Given the description of an element on the screen output the (x, y) to click on. 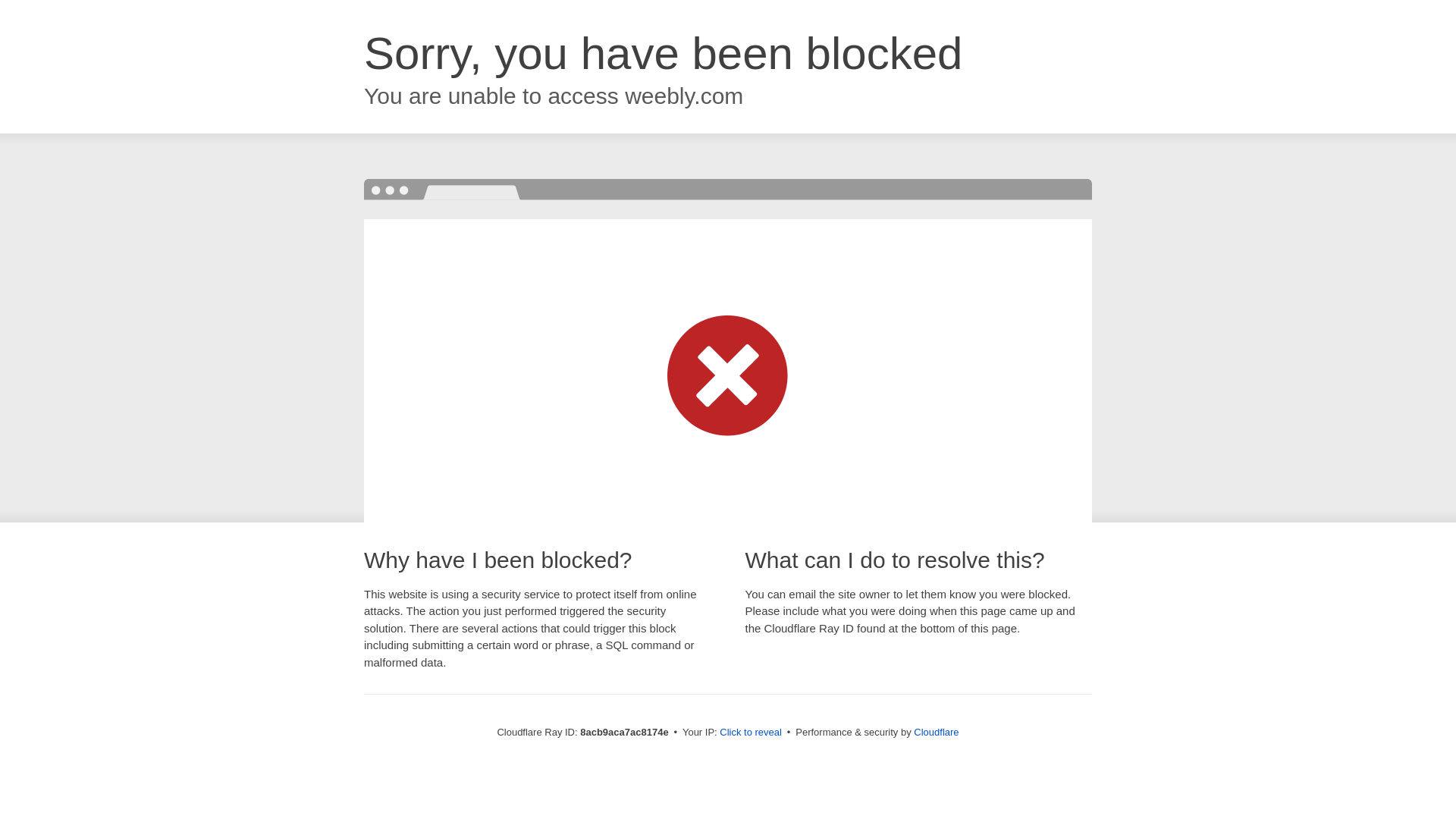
Click to reveal (750, 732)
Cloudflare (936, 731)
